Given the description of an element on the screen output the (x, y) to click on. 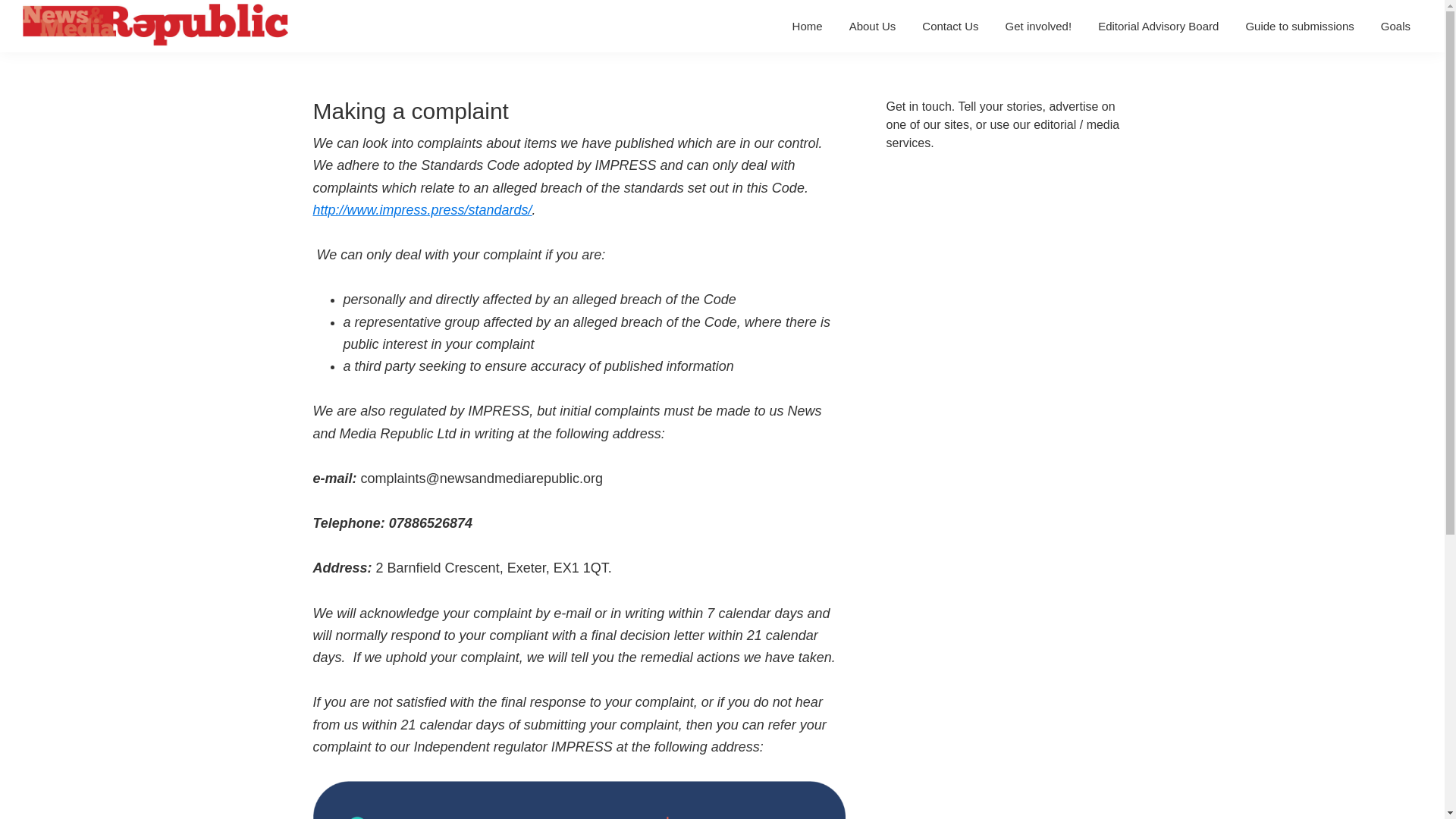
Goals (1396, 25)
Guide to submissions (1299, 25)
About Us (872, 25)
Contact Us (950, 25)
Get involved! (1038, 25)
Home (807, 25)
Editorial Advisory Board (1158, 25)
